Given the description of an element on the screen output the (x, y) to click on. 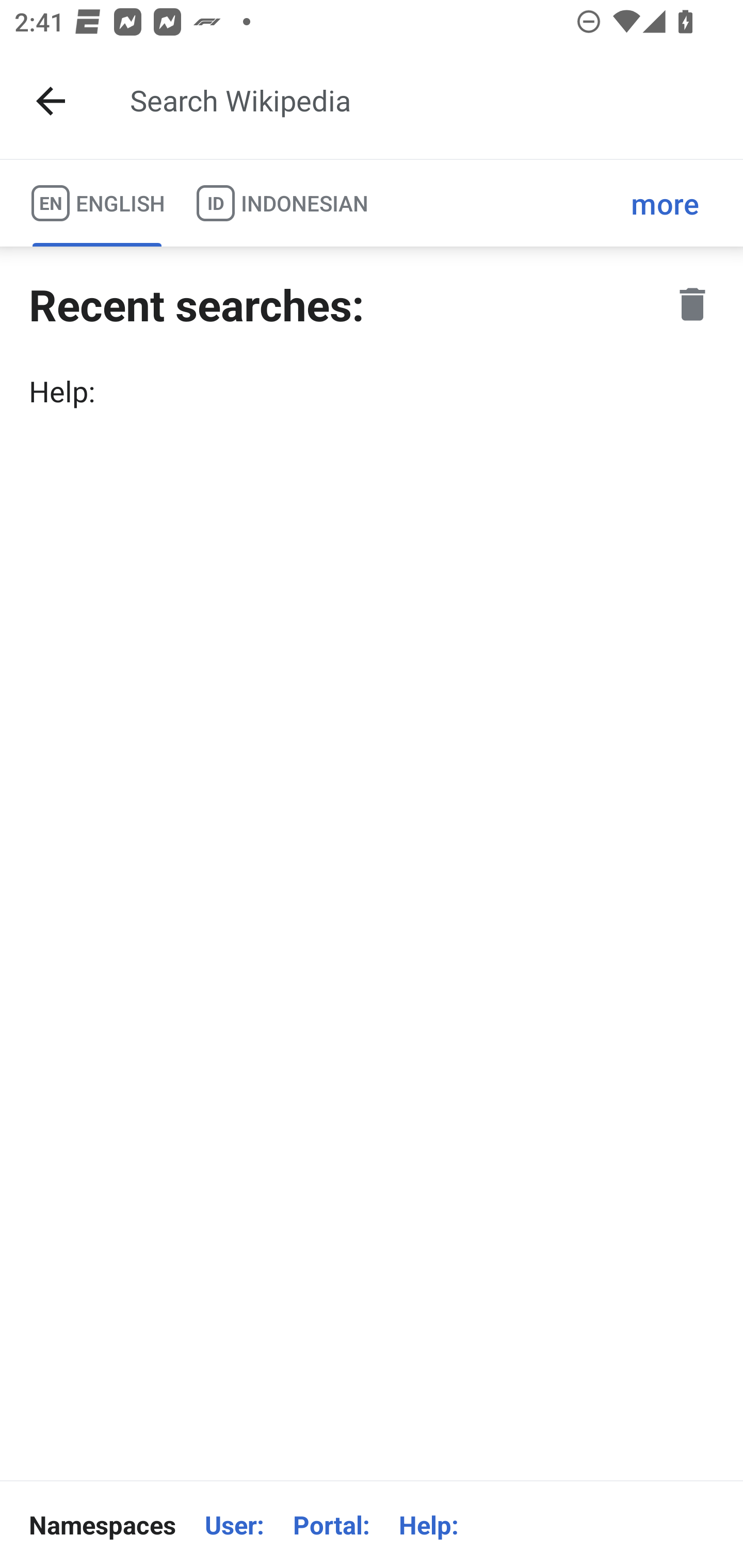
Navigate up (50, 101)
Search Wikipedia (420, 100)
ID INDONESIAN (281, 202)
more (664, 202)
Clear history (692, 304)
Help: (371, 391)
Namespaces (102, 1524)
User: (234, 1524)
Portal: (331, 1524)
Help: (428, 1524)
